Given the description of an element on the screen output the (x, y) to click on. 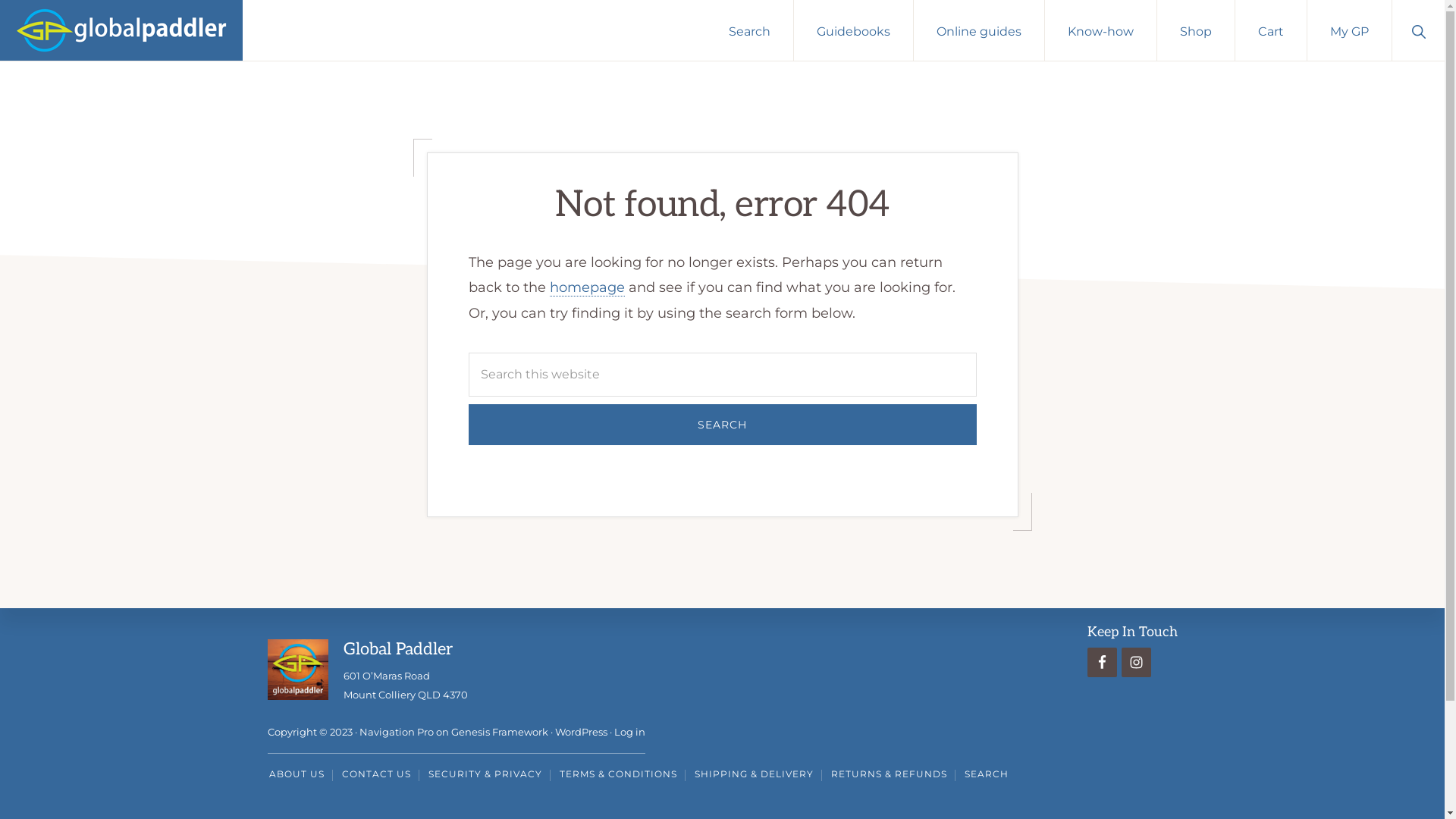
Search Element type: text (749, 30)
SEARCH Element type: text (986, 775)
Search Element type: text (722, 424)
SHIPPING & DELIVERY Element type: text (753, 775)
Skip to primary navigation Element type: text (0, 0)
JOIN GLOBAL PADDLER Element type: text (618, 666)
CONTACT US Element type: text (375, 775)
ABOUT US Element type: text (295, 775)
Show Search Element type: text (1418, 30)
Genesis Framework Element type: text (498, 732)
GET OUR GUIDEBOOKS Element type: text (826, 666)
Online guides Element type: text (978, 30)
Cart Element type: text (1270, 30)
homepage Element type: text (586, 287)
RETURNS & REFUNDS Element type: text (889, 775)
Shop Element type: text (1195, 30)
Log in Element type: text (629, 732)
Guidebooks Element type: text (853, 30)
TERMS & CONDITIONS Element type: text (618, 775)
WordPress Element type: text (581, 732)
SECURITY & PRIVACY Element type: text (484, 775)
Know-how Element type: text (1100, 30)
My GP Element type: text (1349, 30)
Navigation Pro Element type: text (396, 732)
